Given the description of an element on the screen output the (x, y) to click on. 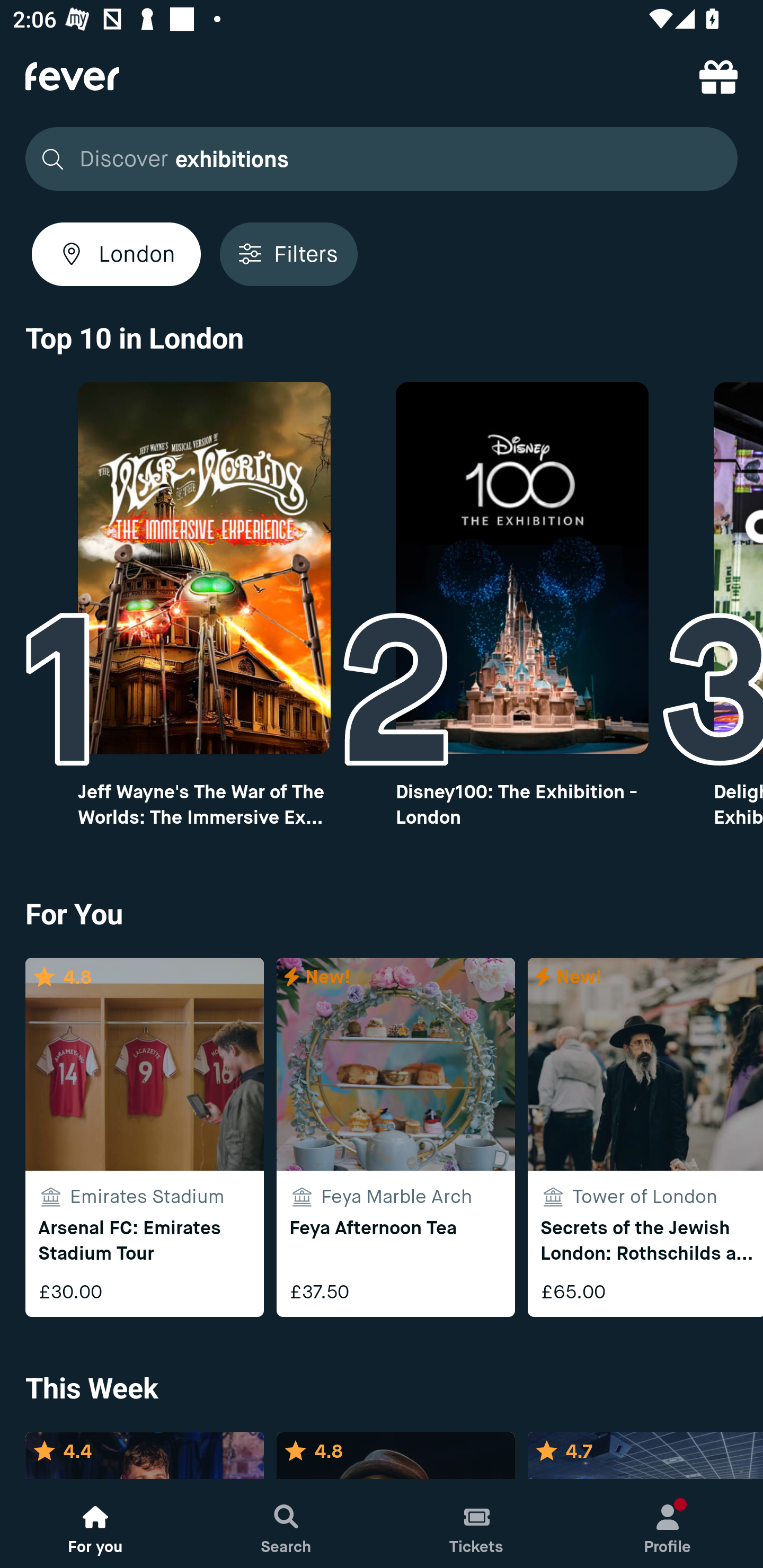
referral (718, 75)
Discover exhibitions (381, 158)
Discover exhibitions (376, 158)
London (116, 253)
Filters (288, 253)
Top10 image (203, 568)
Top10 image (521, 568)
Search (285, 1523)
Tickets (476, 1523)
Profile, New notification Profile (667, 1523)
